Given the description of an element on the screen output the (x, y) to click on. 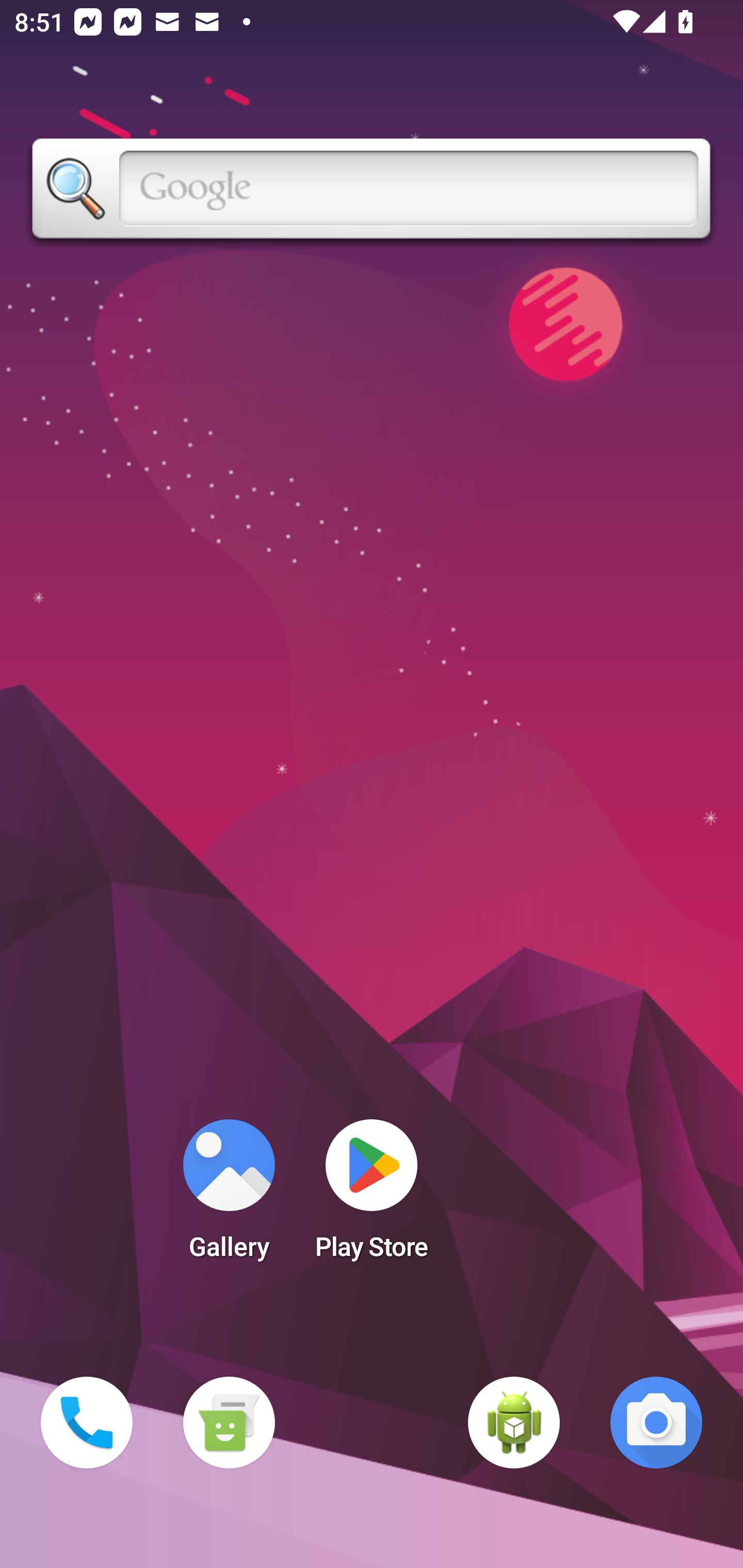
Gallery (228, 1195)
Play Store (371, 1195)
Phone (86, 1422)
Messaging (228, 1422)
WebView Browser Tester (513, 1422)
Camera (656, 1422)
